Given the description of an element on the screen output the (x, y) to click on. 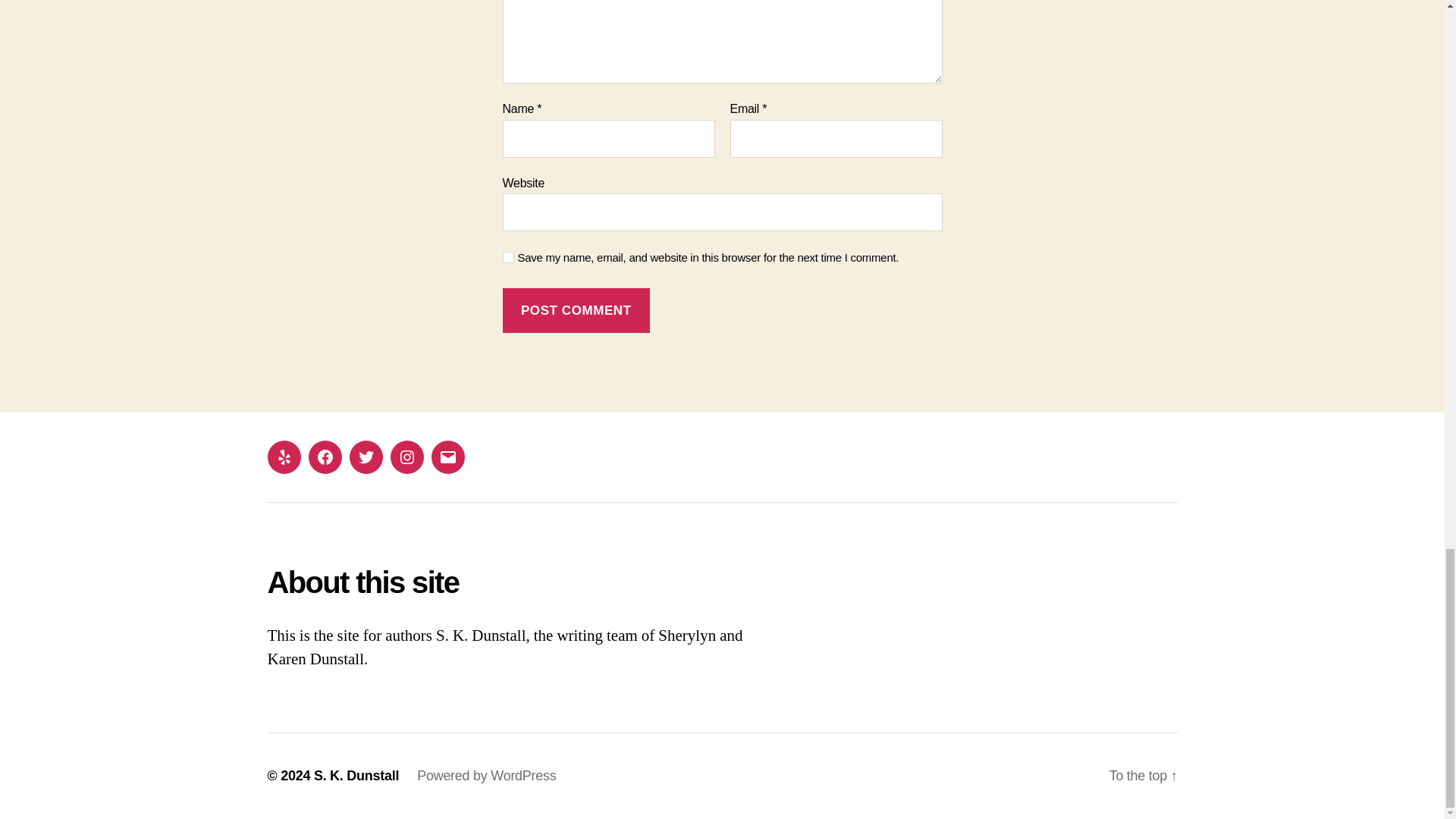
yes (507, 256)
Post Comment (575, 310)
